Given the description of an element on the screen output the (x, y) to click on. 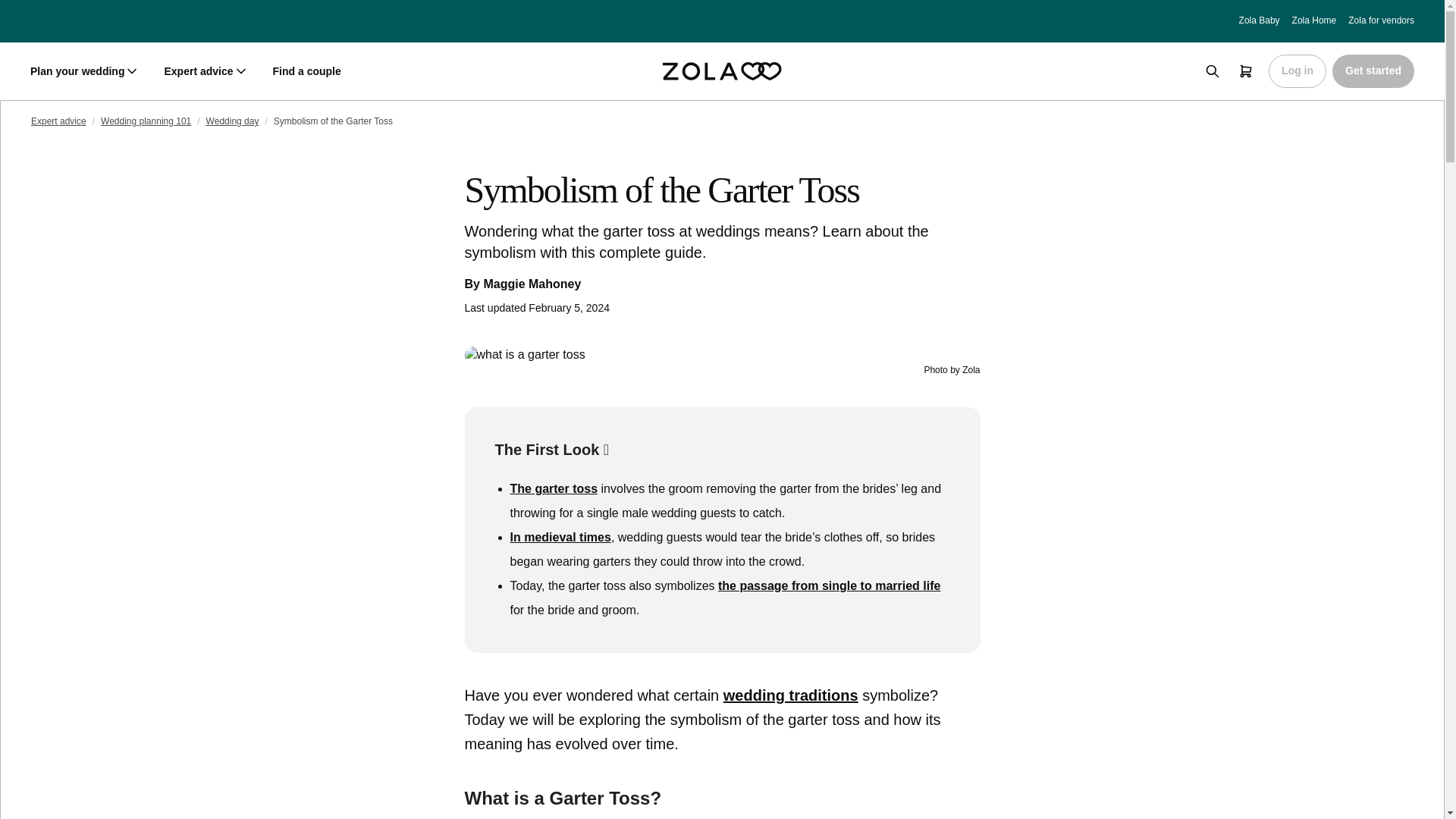
Find a couple (306, 70)
Zola Baby (1259, 20)
Expert advice (205, 70)
Log in (1297, 70)
Plan your wedding (84, 70)
Get started (1372, 70)
Zola Home (1314, 20)
Zola for vendors (1380, 20)
